Given the description of an element on the screen output the (x, y) to click on. 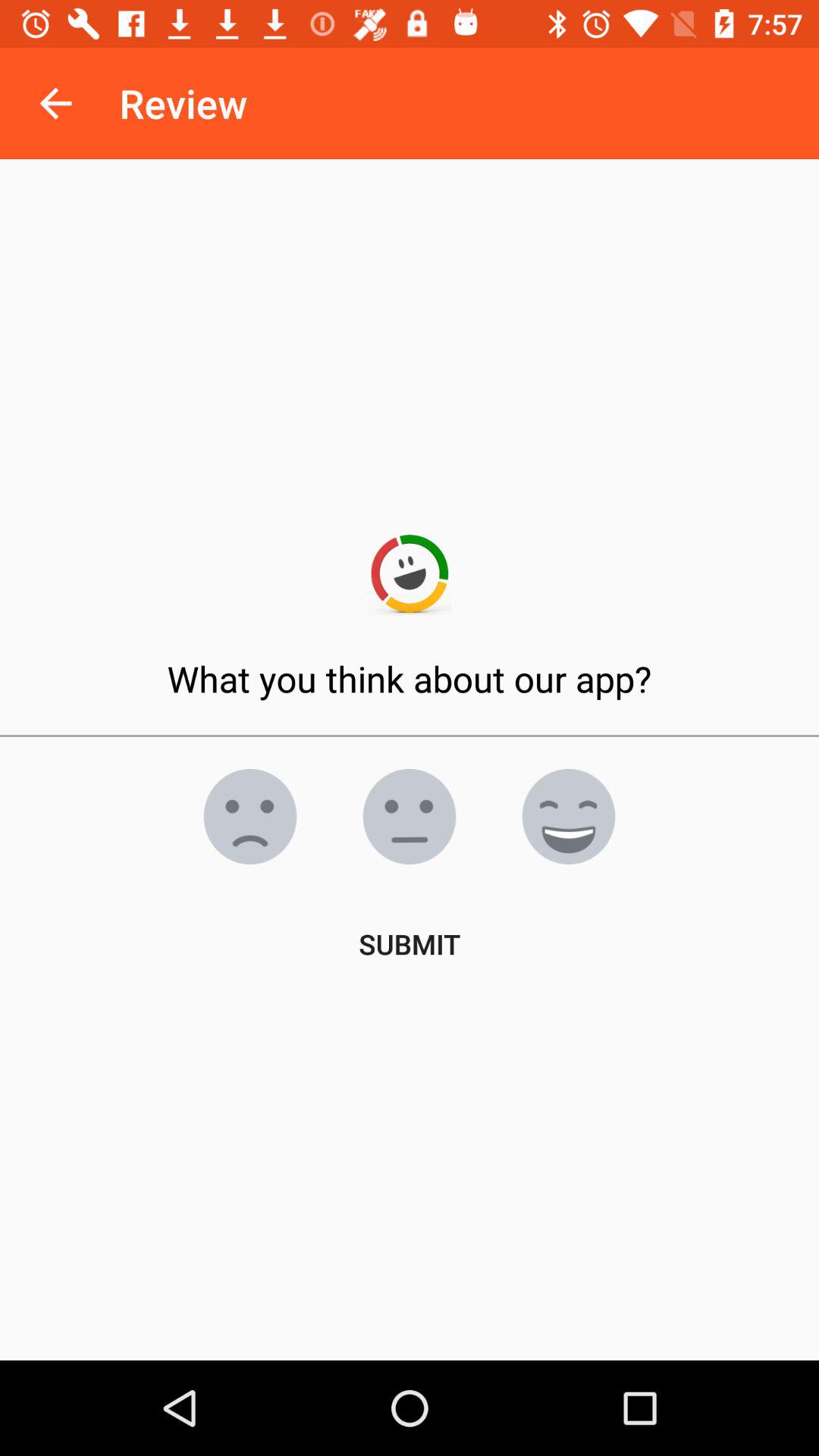
give an opinion (249, 816)
